Given the description of an element on the screen output the (x, y) to click on. 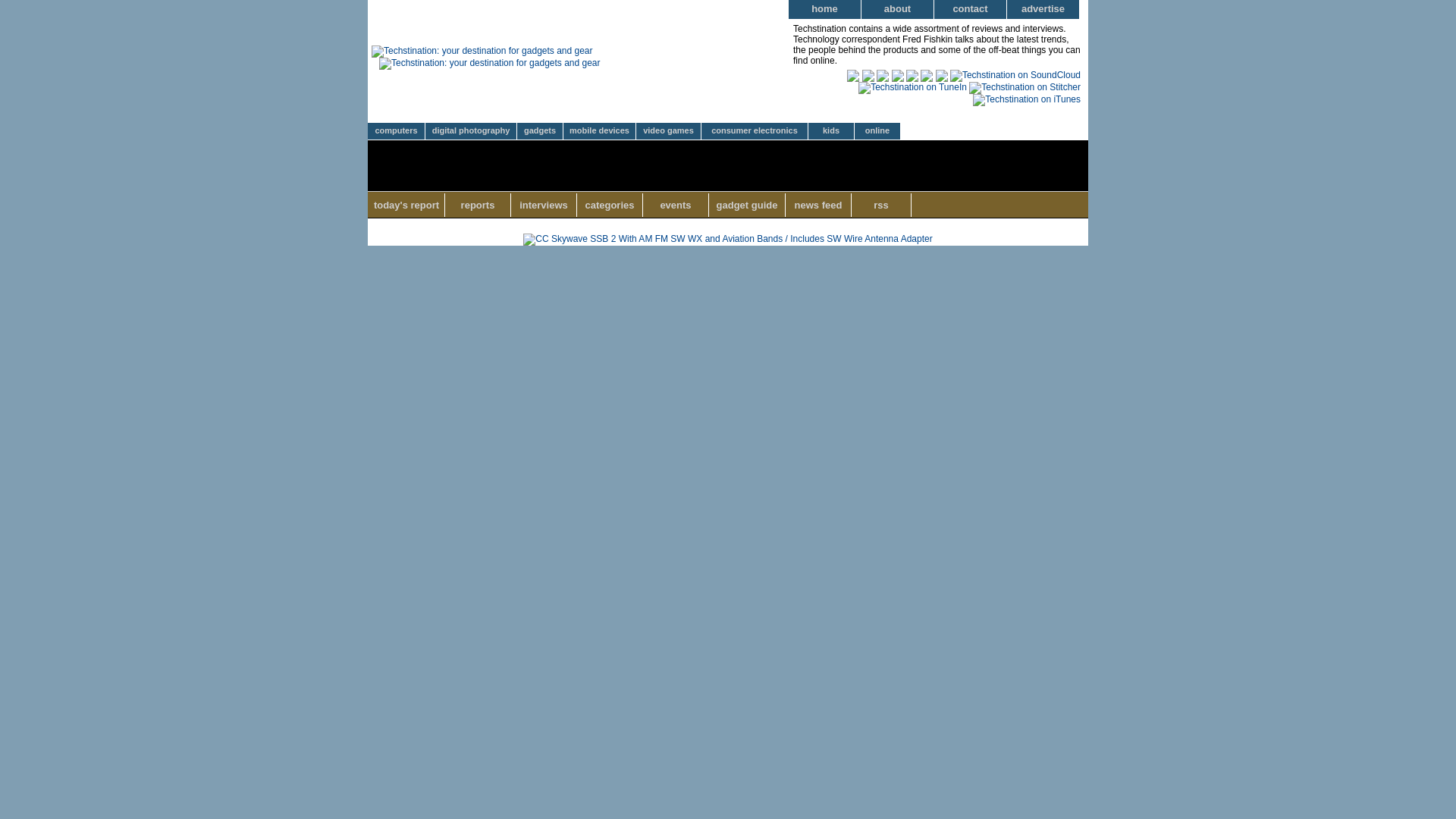
video games (668, 131)
home (825, 9)
Visit our sponsor: C. Crane Company, Inc. (726, 238)
Listen to Techstination on Spreaker (882, 74)
consumer electronics (754, 131)
gadgets (539, 131)
Follow Techstination on Twitter (926, 74)
kids (831, 131)
contact (970, 9)
categories (609, 205)
